Given the description of an element on the screen output the (x, y) to click on. 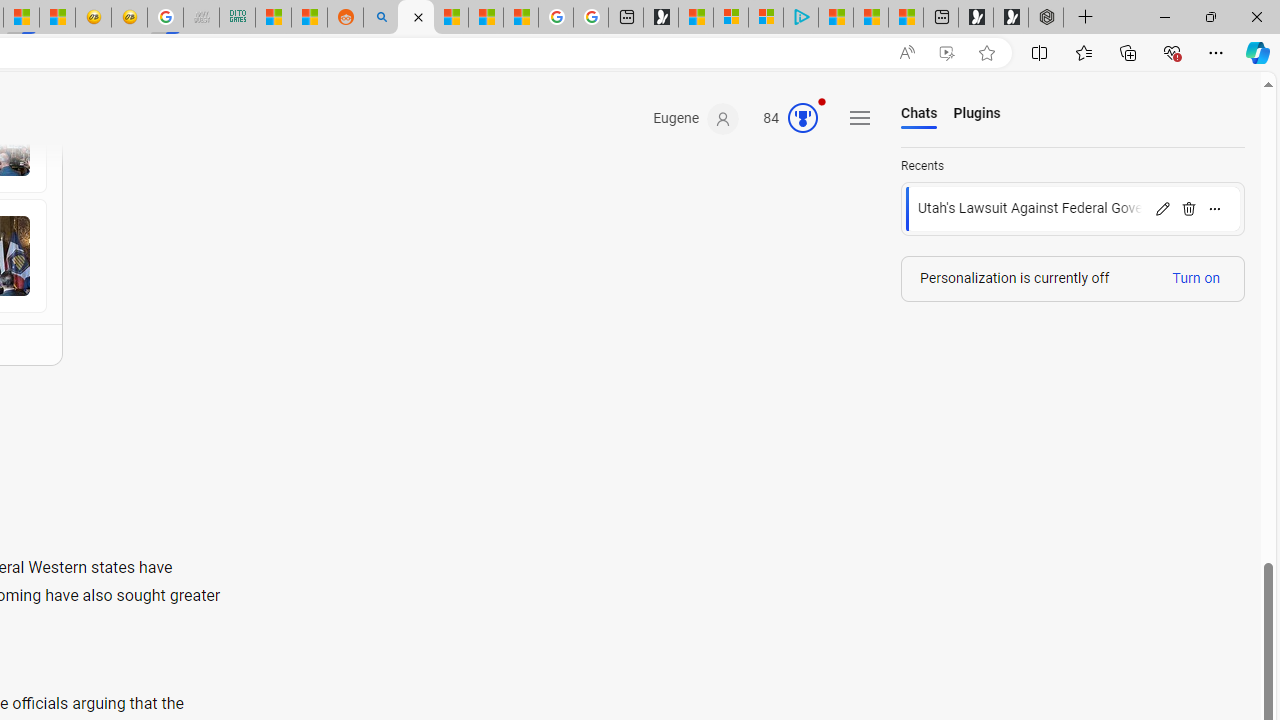
Delete (1188, 208)
Microsoft Copilot in Bing (415, 17)
AutomationID: serp_medal_svg (803, 117)
